Given the description of an element on the screen output the (x, y) to click on. 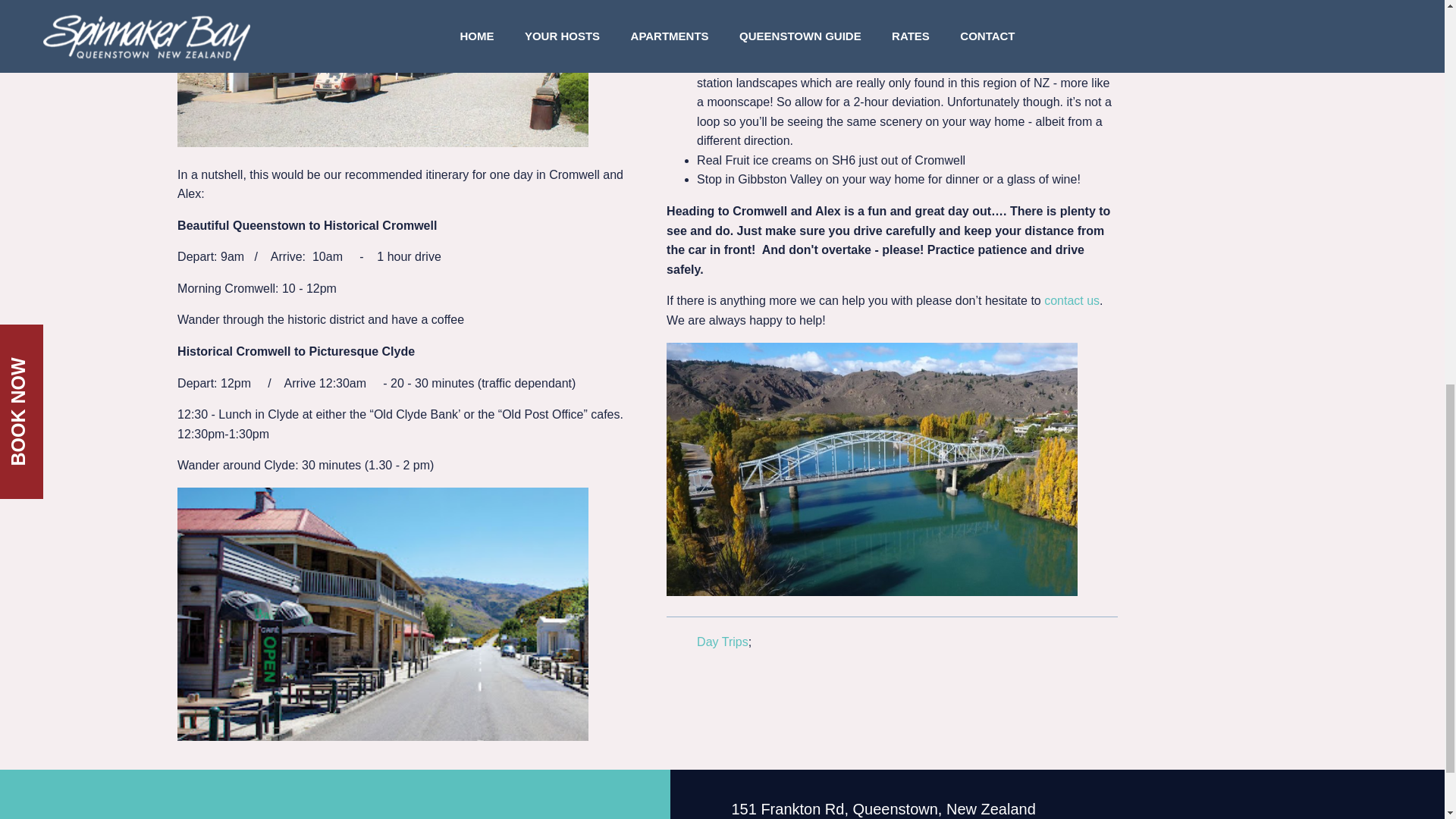
Day Trips (722, 641)
Day Trips (722, 641)
contact us (1071, 300)
